Given the description of an element on the screen output the (x, y) to click on. 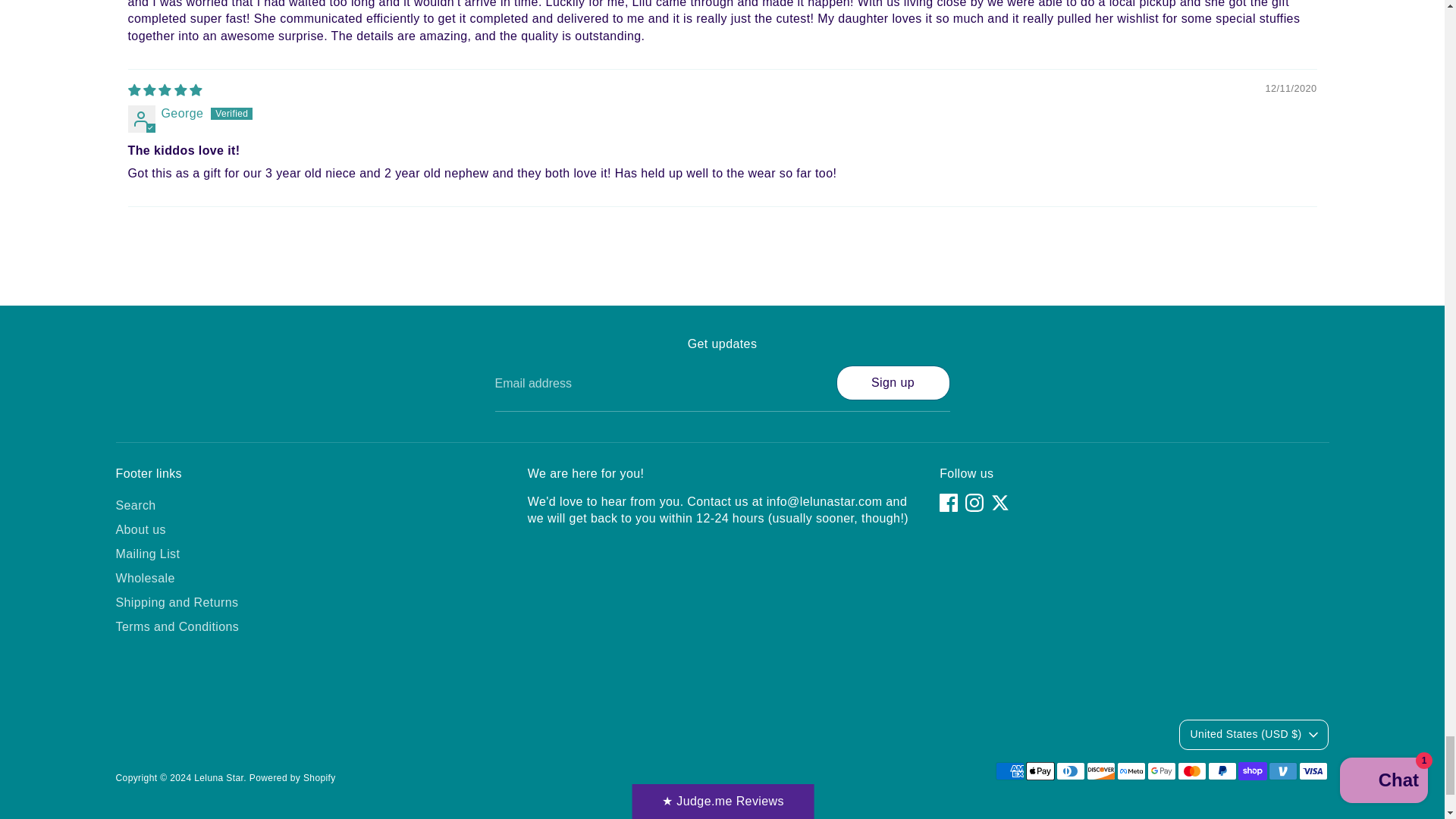
American Express (1008, 771)
